Given the description of an element on the screen output the (x, y) to click on. 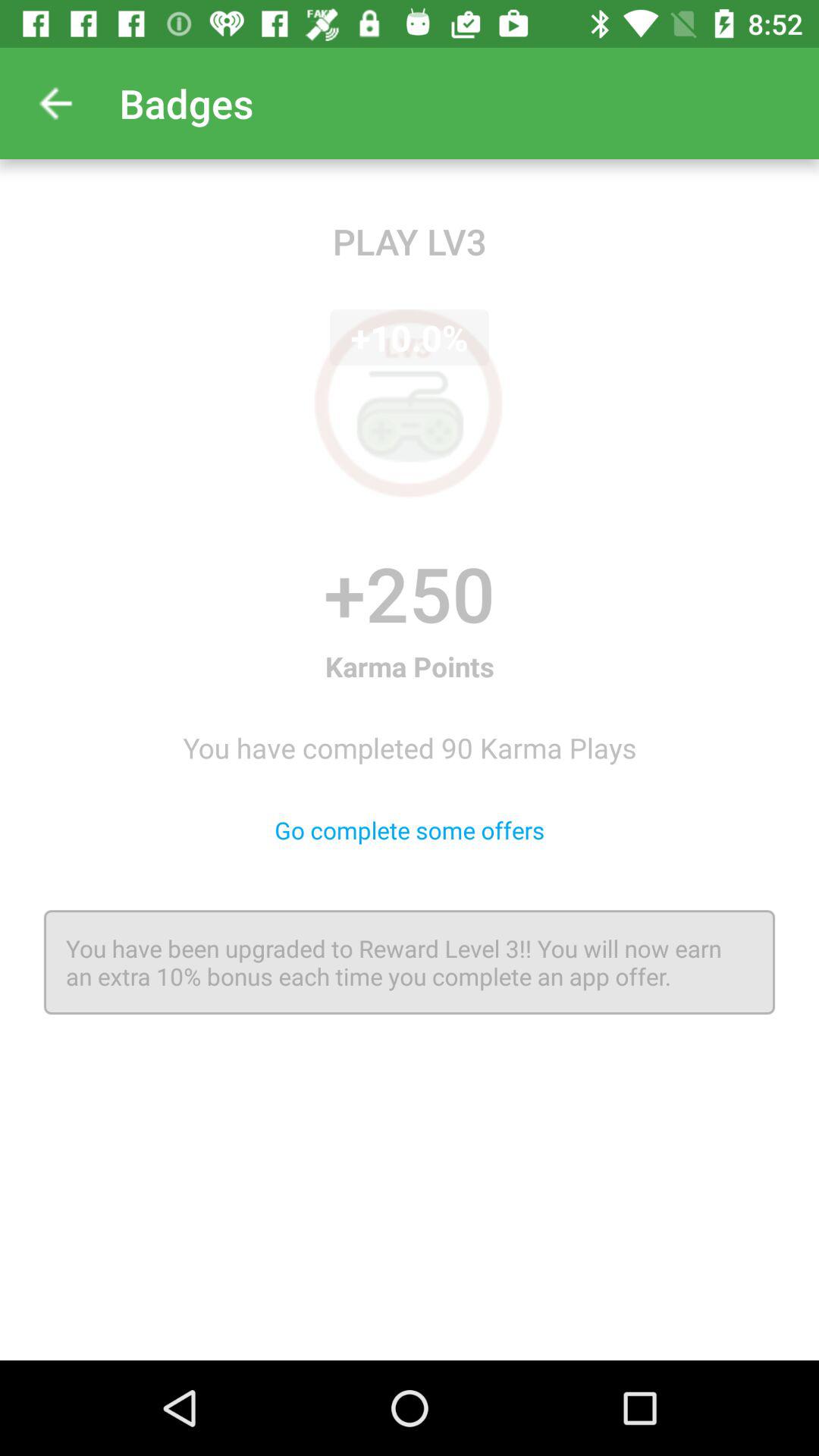
flip until go complete some item (409, 830)
